Given the description of an element on the screen output the (x, y) to click on. 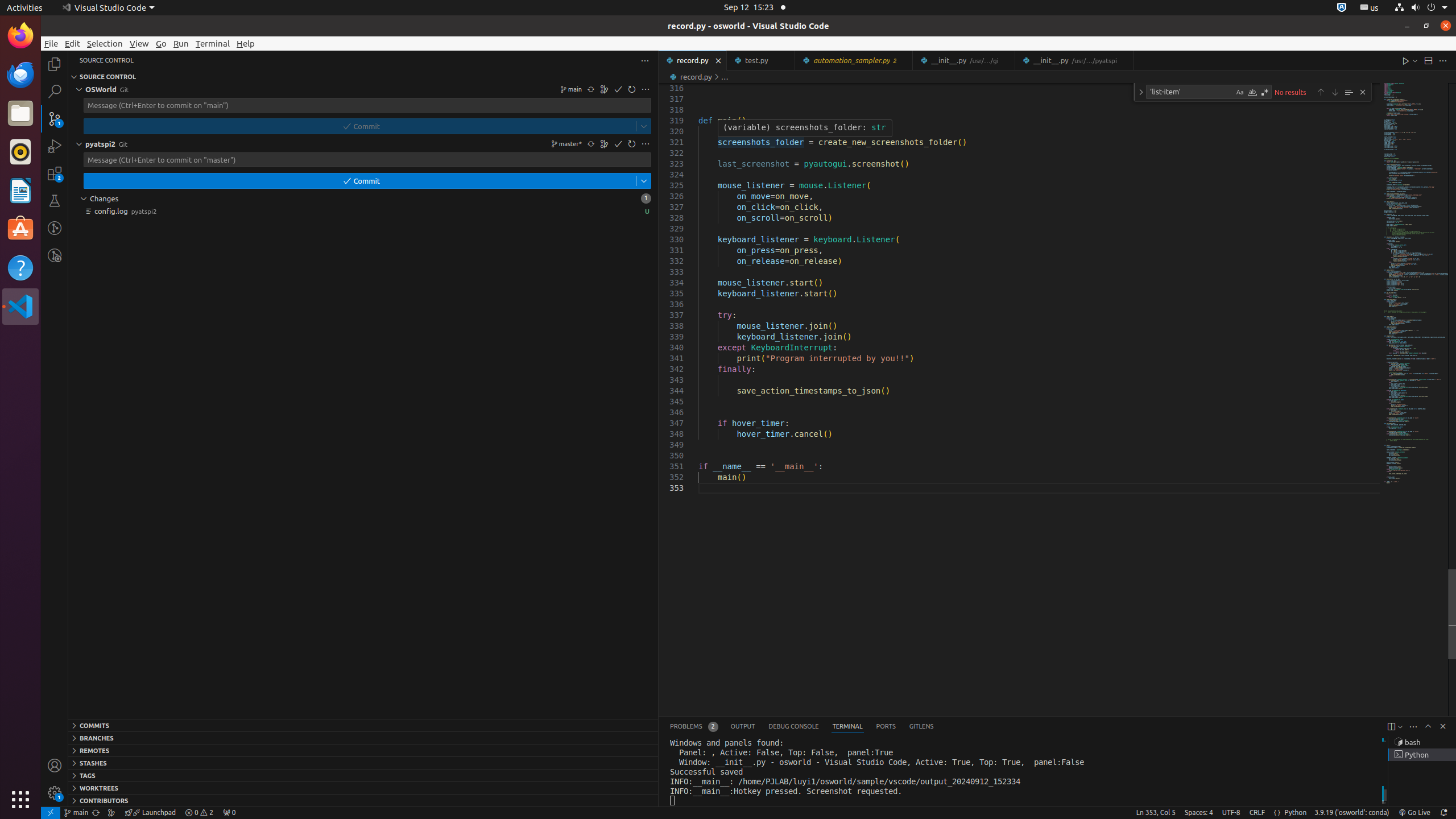
Active View Switcher Element type: page-tab-list (801, 726)
Search (Ctrl+Shift+F) Element type: page-tab (54, 91)
Branches Section Element type: push-button (363, 737)
New Terminal (Ctrl+Shift+`) [Alt] Split Terminal (Ctrl+Shift+5) Element type: push-button (1390, 726)
Warnings: 2 Element type: push-button (199, 812)
